Given the description of an element on the screen output the (x, y) to click on. 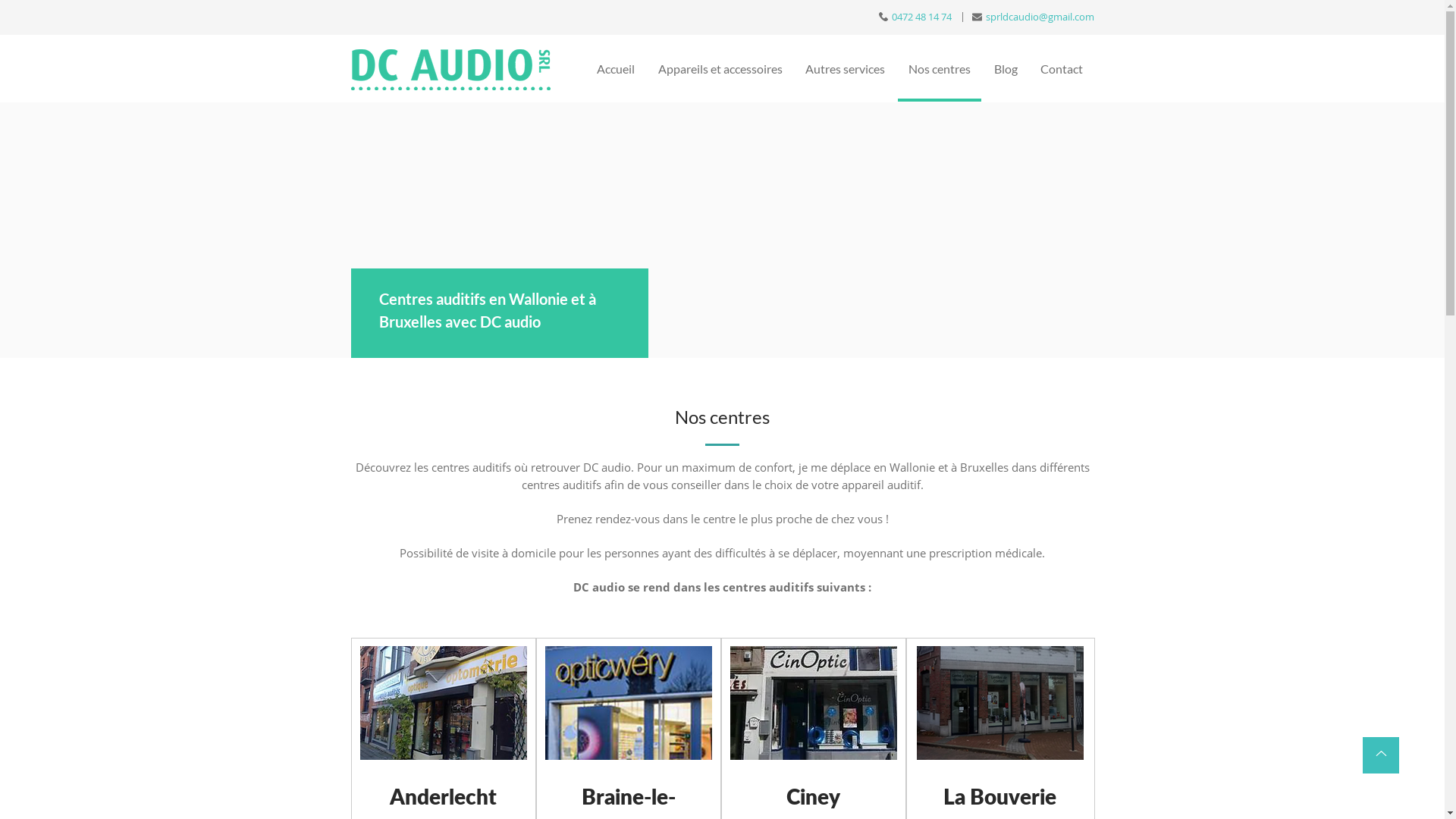
Nos centres Element type: text (939, 69)
sprldcaudio@gmail.com Element type: text (1032, 16)
Blog Element type: text (1005, 69)
Autres services Element type: text (845, 69)
Contact Element type: text (1061, 69)
Appareils et accessoires Element type: text (719, 69)
DC audio Element type: hover (449, 69)
Accueil Element type: text (615, 69)
0472 48 14 74 Element type: text (915, 16)
